Given the description of an element on the screen output the (x, y) to click on. 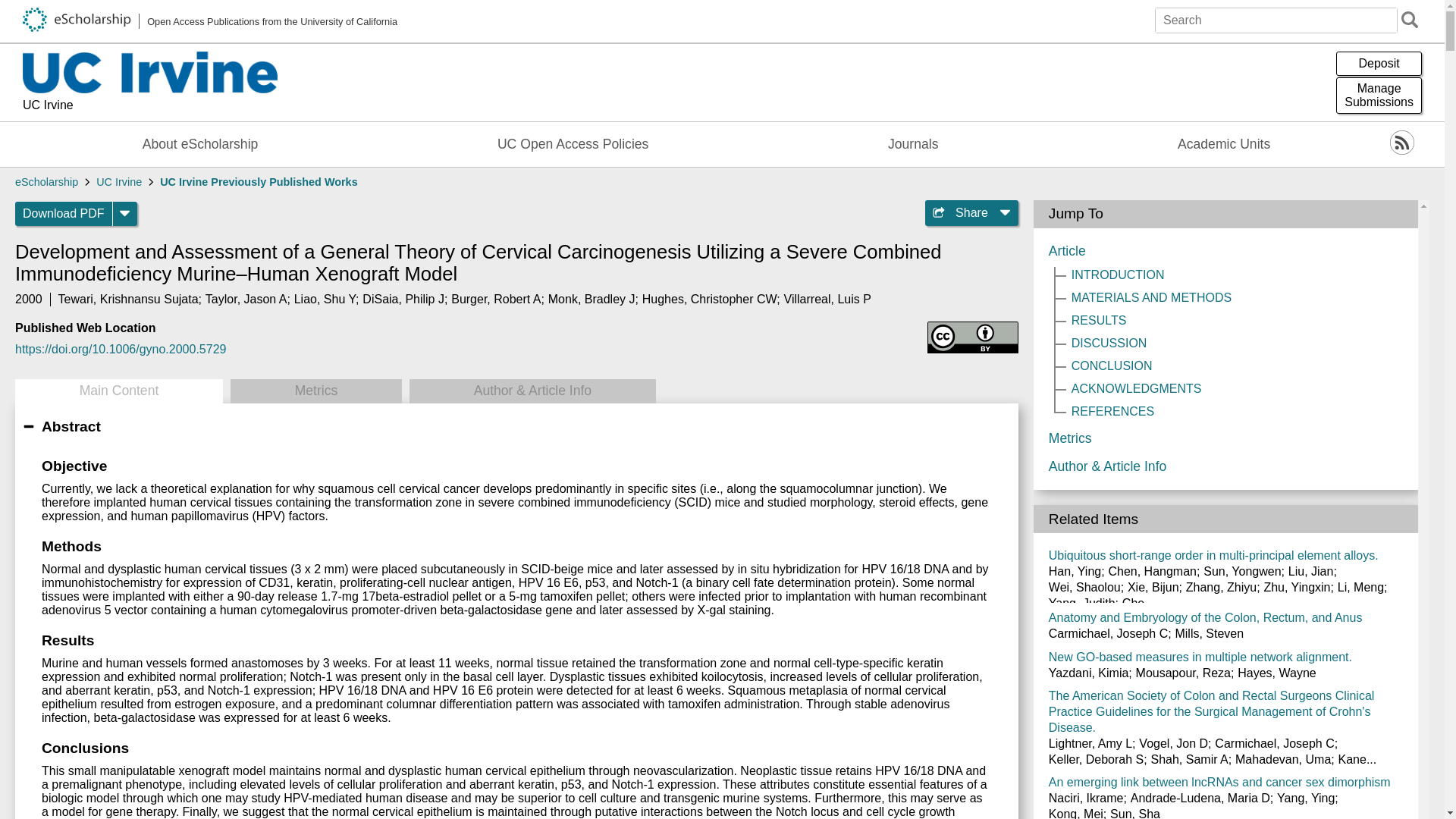
Download PDF (63, 213)
Journals (913, 143)
Tewari, Krishnansu Sujata (128, 298)
Academic Units (1224, 143)
UC Irvine Previously Published Works (258, 182)
Taylor, Jason A (245, 298)
eScholarship (46, 182)
Hughes, Christopher CW (709, 298)
Monk, Bradley J (591, 298)
Metrics (315, 391)
